Given the description of an element on the screen output the (x, y) to click on. 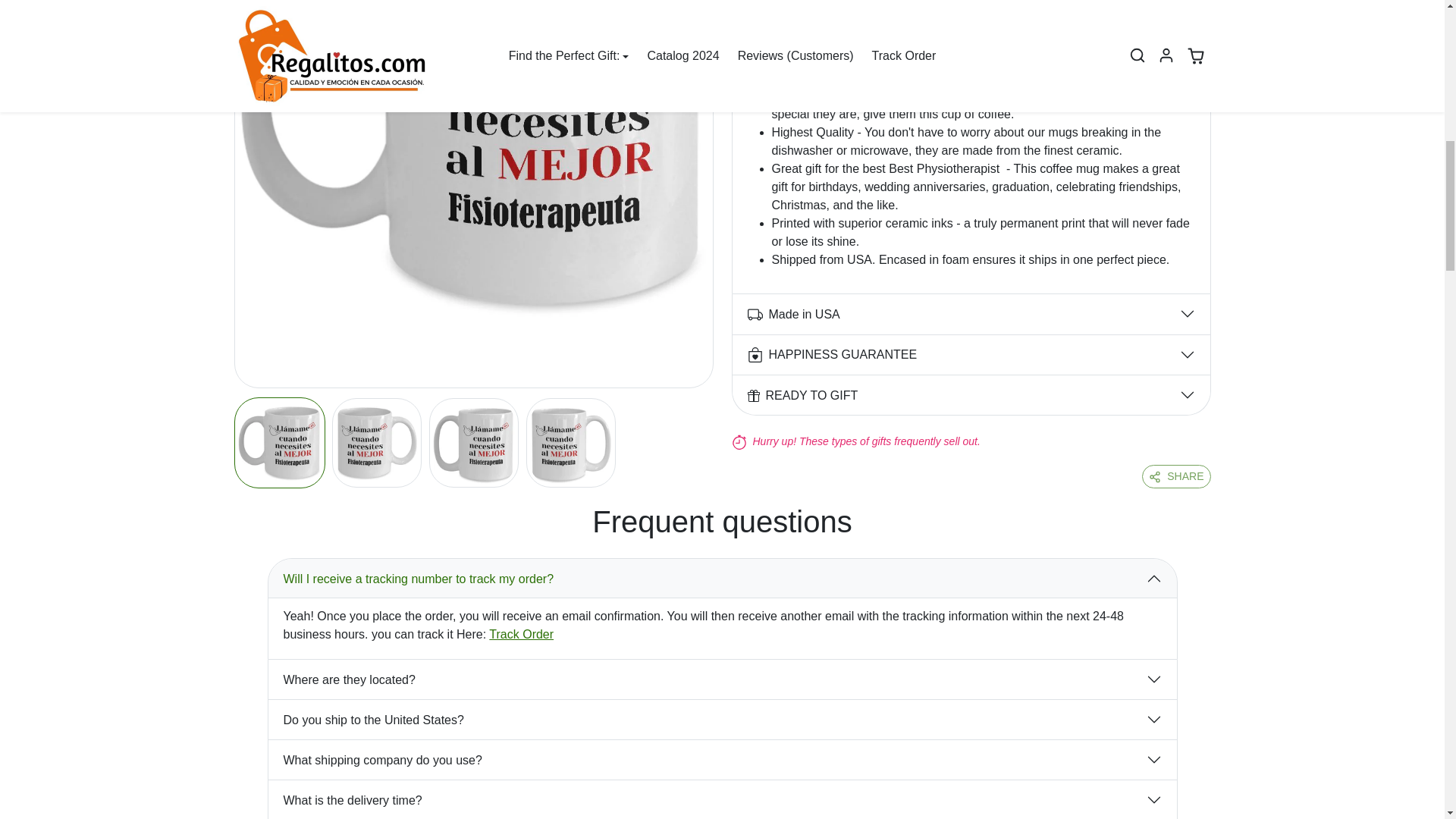
Track Order (521, 634)
